Given the description of an element on the screen output the (x, y) to click on. 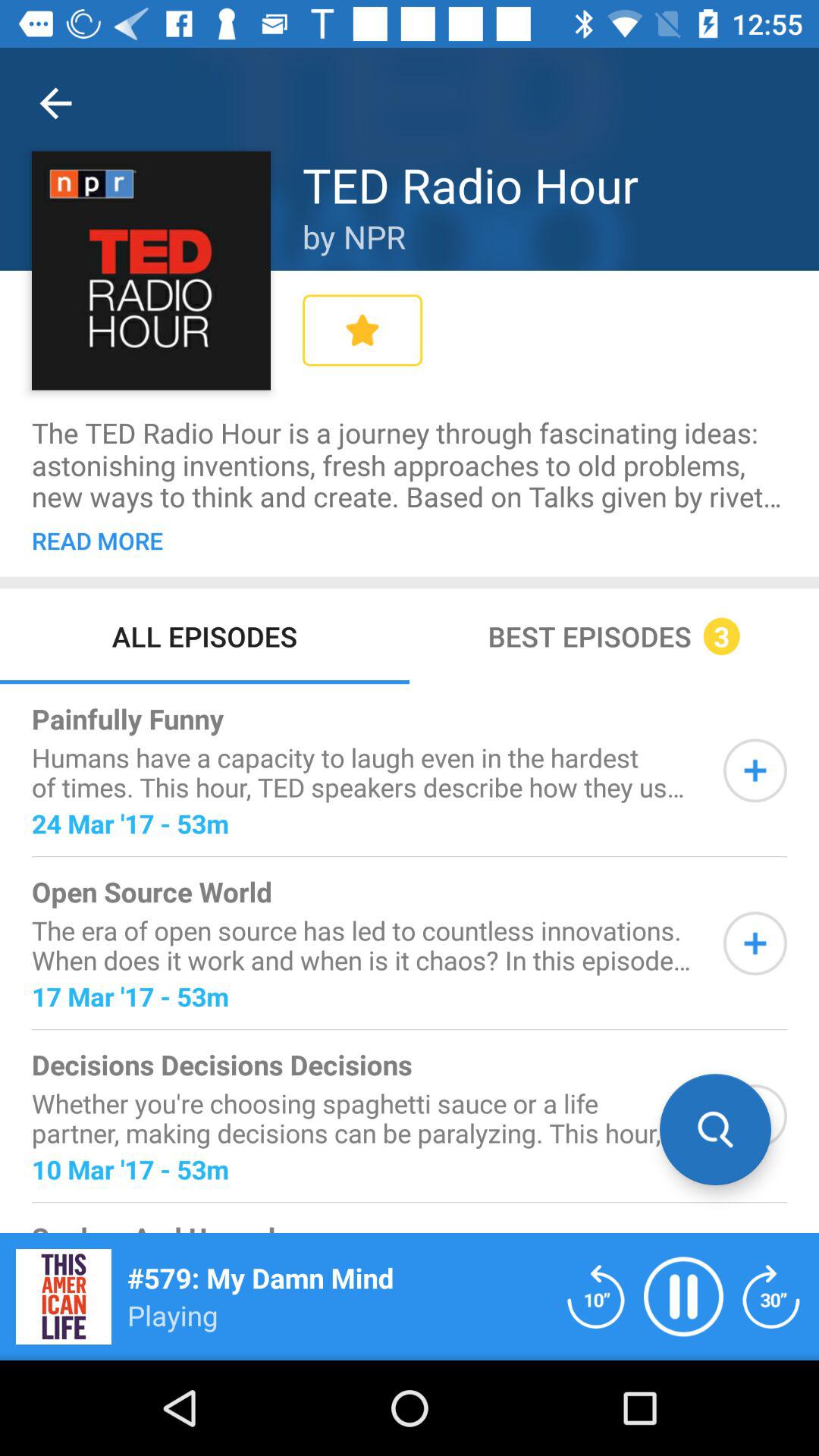
add to que (755, 943)
